Given the description of an element on the screen output the (x, y) to click on. 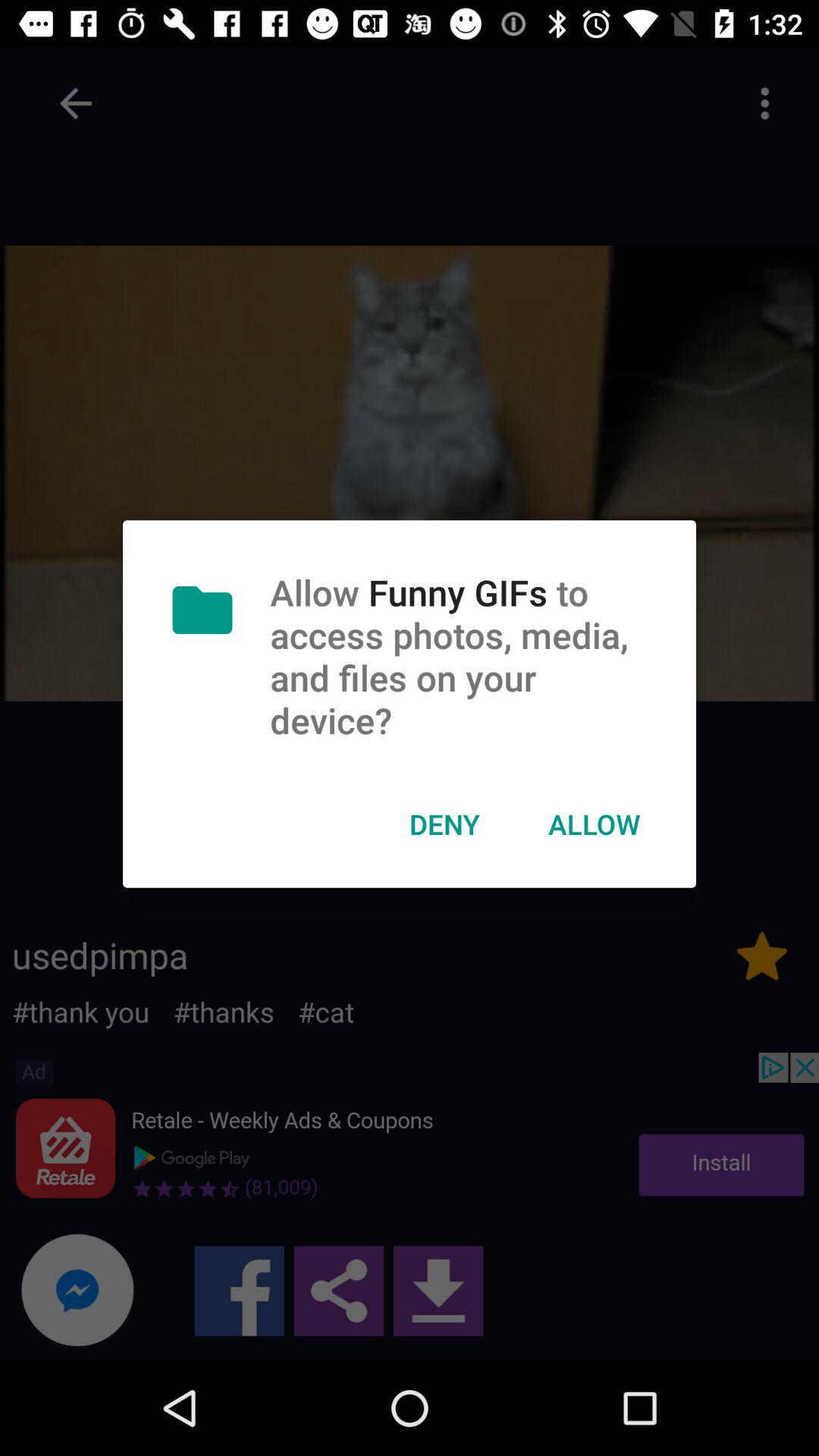
go to previous (75, 103)
